Given the description of an element on the screen output the (x, y) to click on. 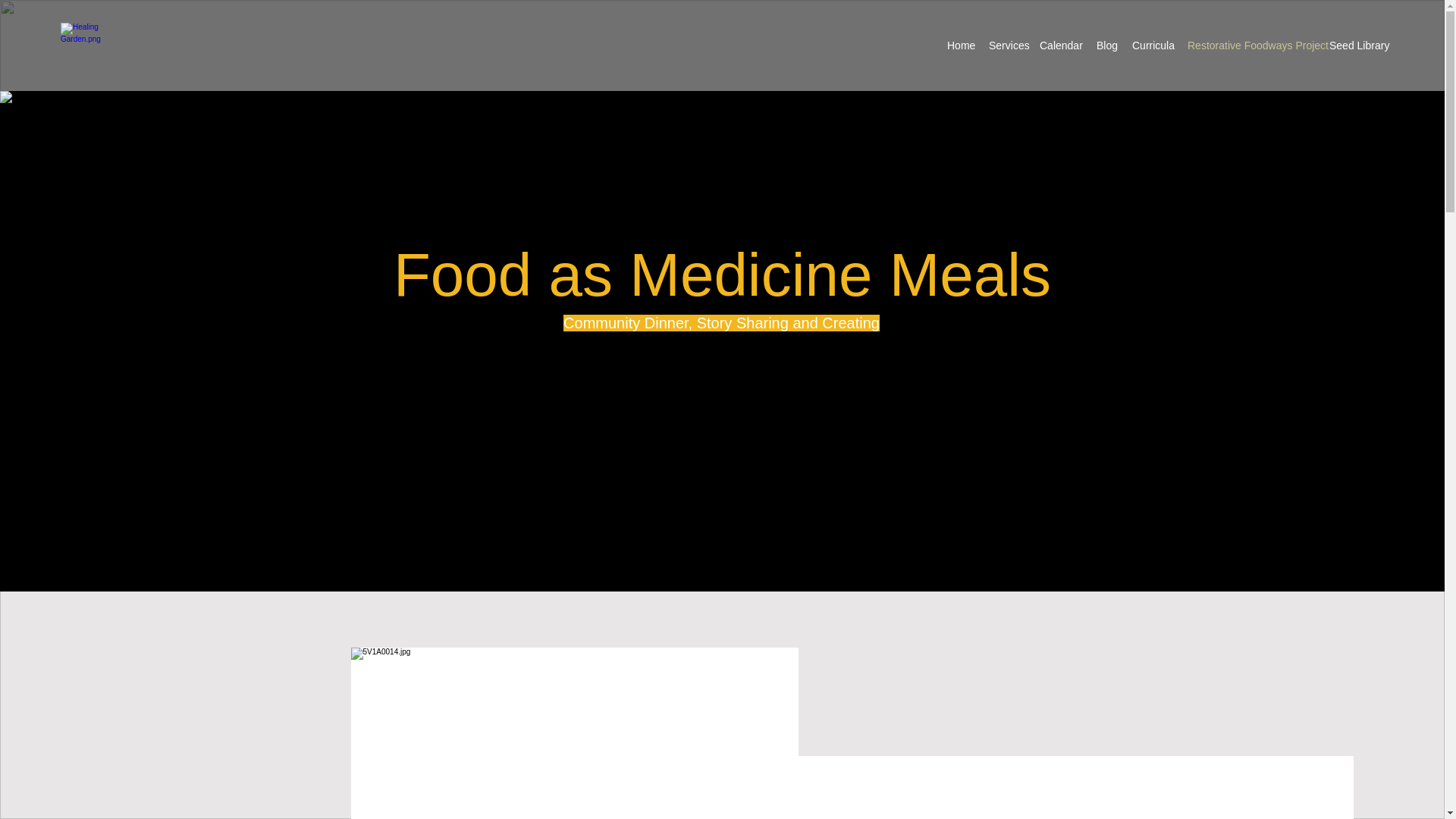
Curricula (1151, 45)
Restorative Foodways Project (1250, 45)
Calendar (1060, 45)
Services (1006, 45)
Blog (1106, 45)
Seed Library (1356, 45)
Home (960, 45)
